Given the description of an element on the screen output the (x, y) to click on. 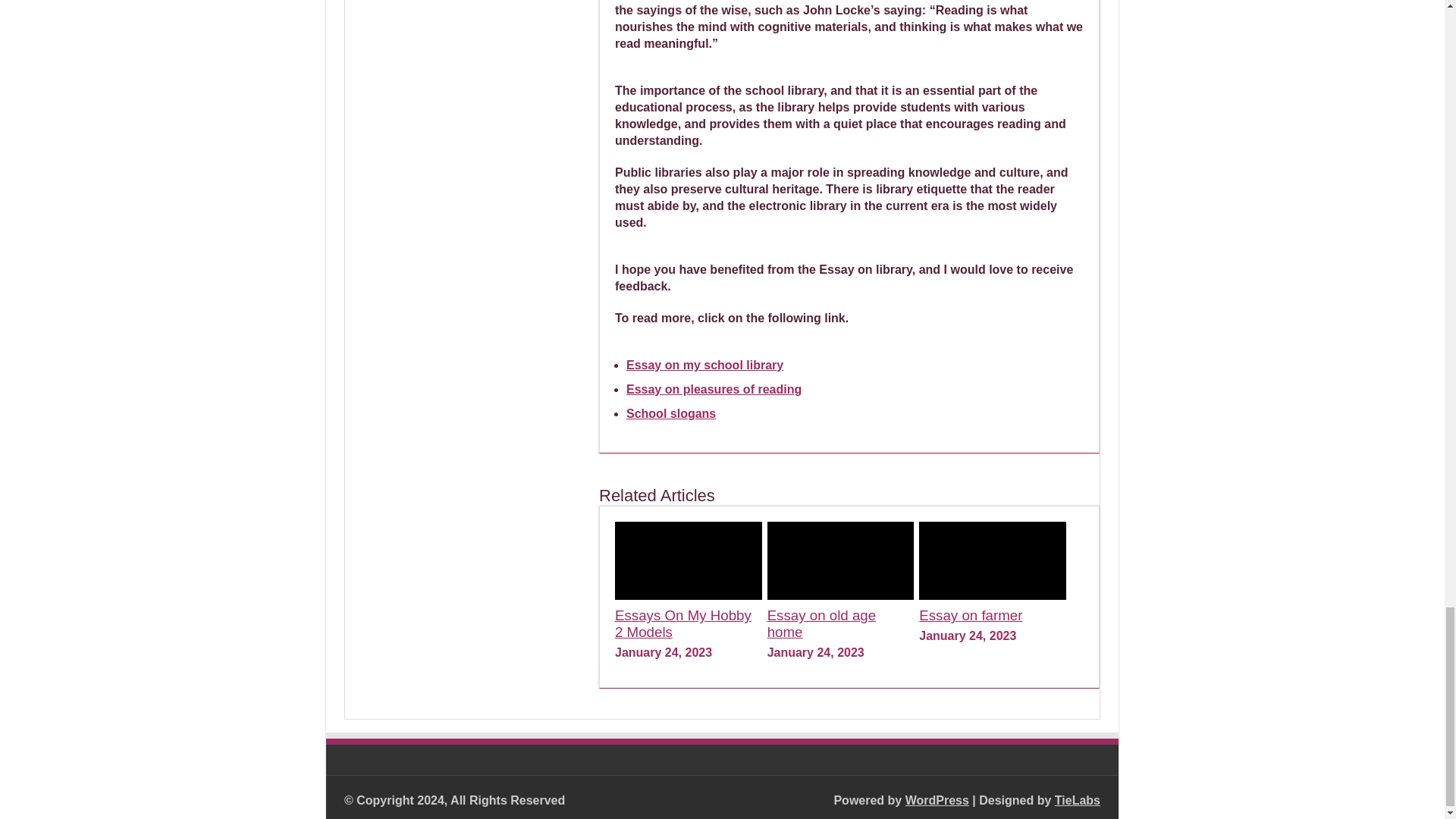
School slogans (671, 413)
Essay on pleasures of reading (714, 389)
Essay on my school library (704, 364)
